Given the description of an element on the screen output the (x, y) to click on. 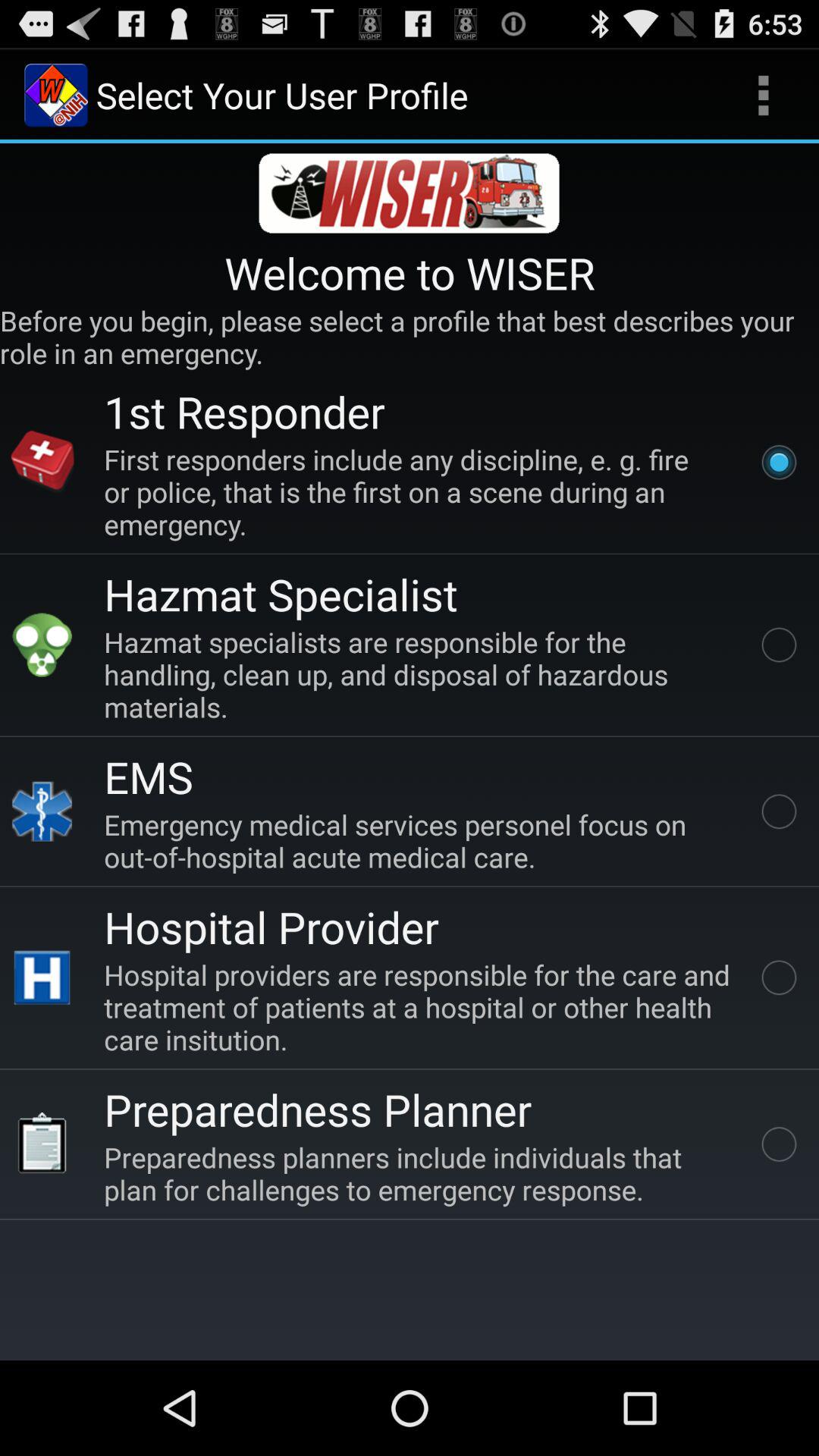
open icon above hazmat specialist app (420, 491)
